Given the description of an element on the screen output the (x, y) to click on. 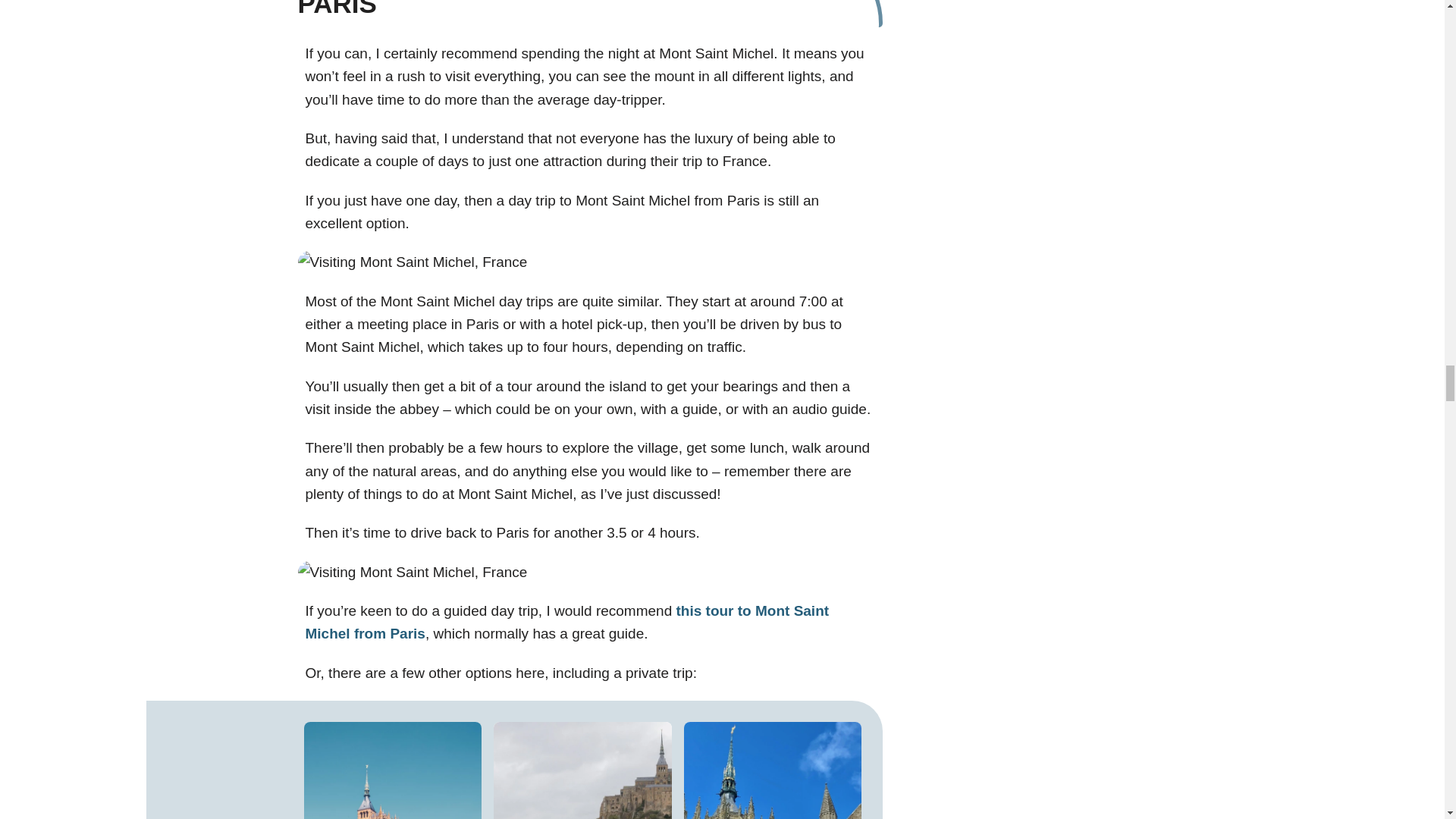
GetYourGuide Widget (581, 767)
